Given the description of an element on the screen output the (x, y) to click on. 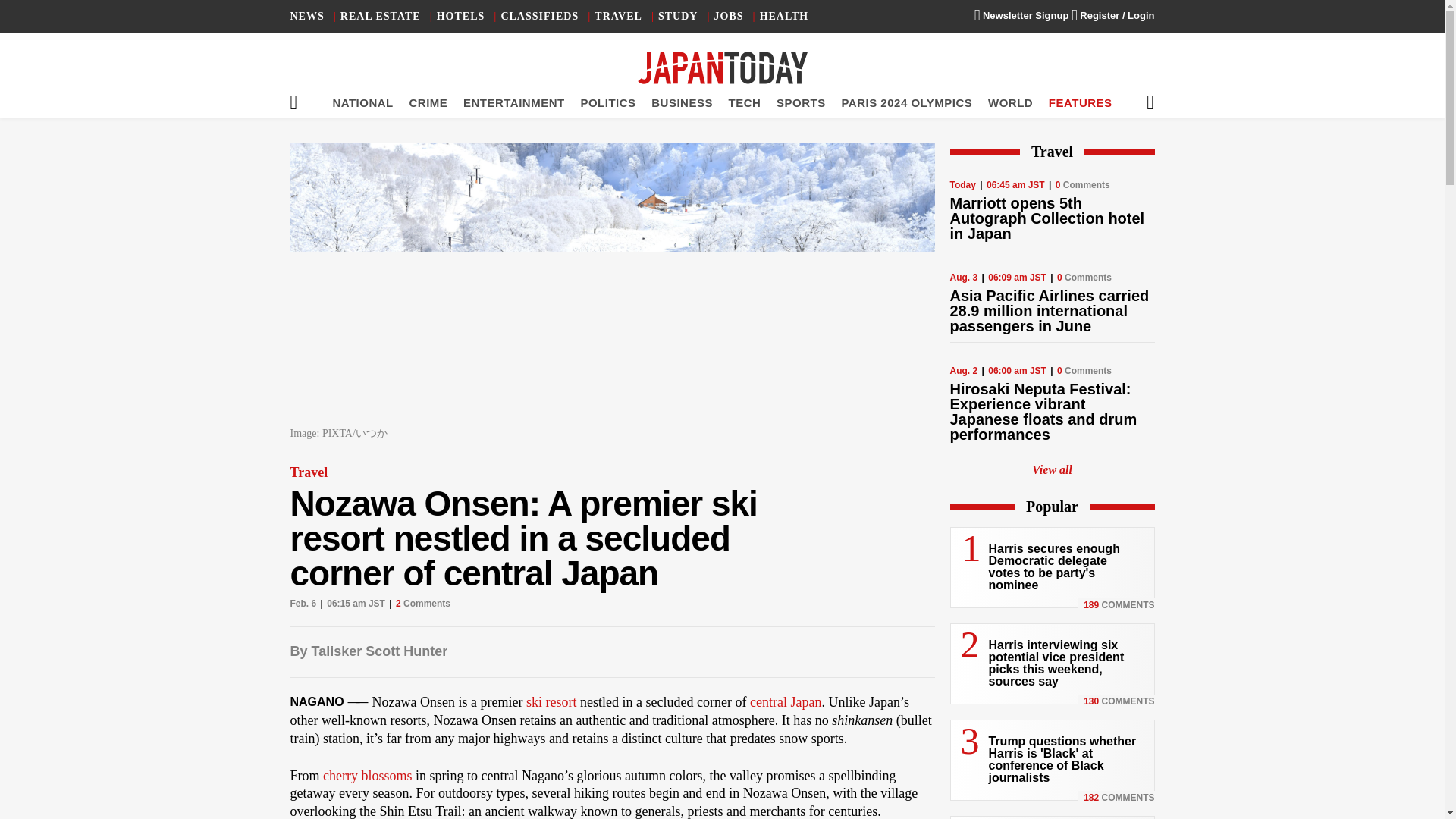
Japan Today (721, 67)
SPORTS (800, 102)
TRAVEL (618, 16)
ENTERTAINMENT (513, 102)
WORLD (1010, 102)
STUDY (677, 16)
Newsletter Signup (1021, 15)
FEATURES (1080, 102)
